Given the description of an element on the screen output the (x, y) to click on. 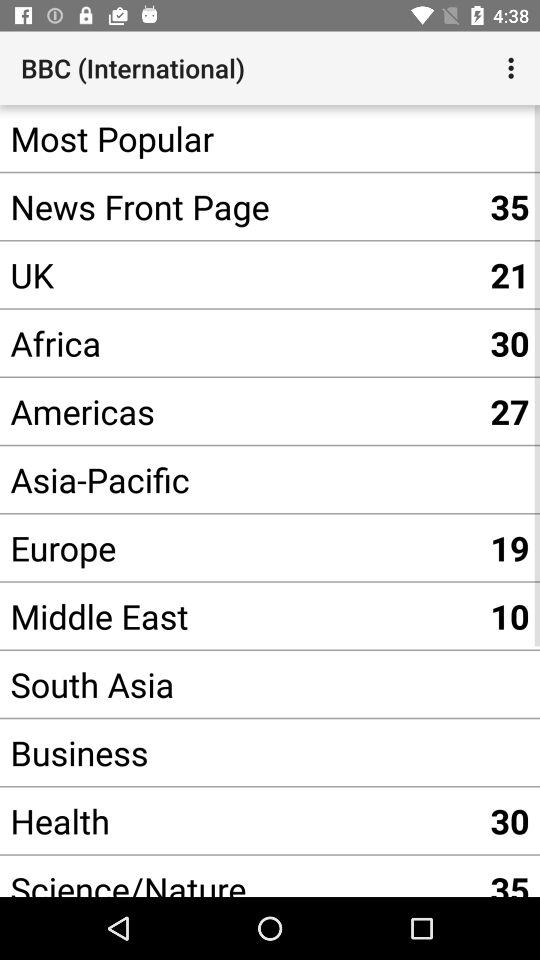
open the uk (240, 274)
